Given the description of an element on the screen output the (x, y) to click on. 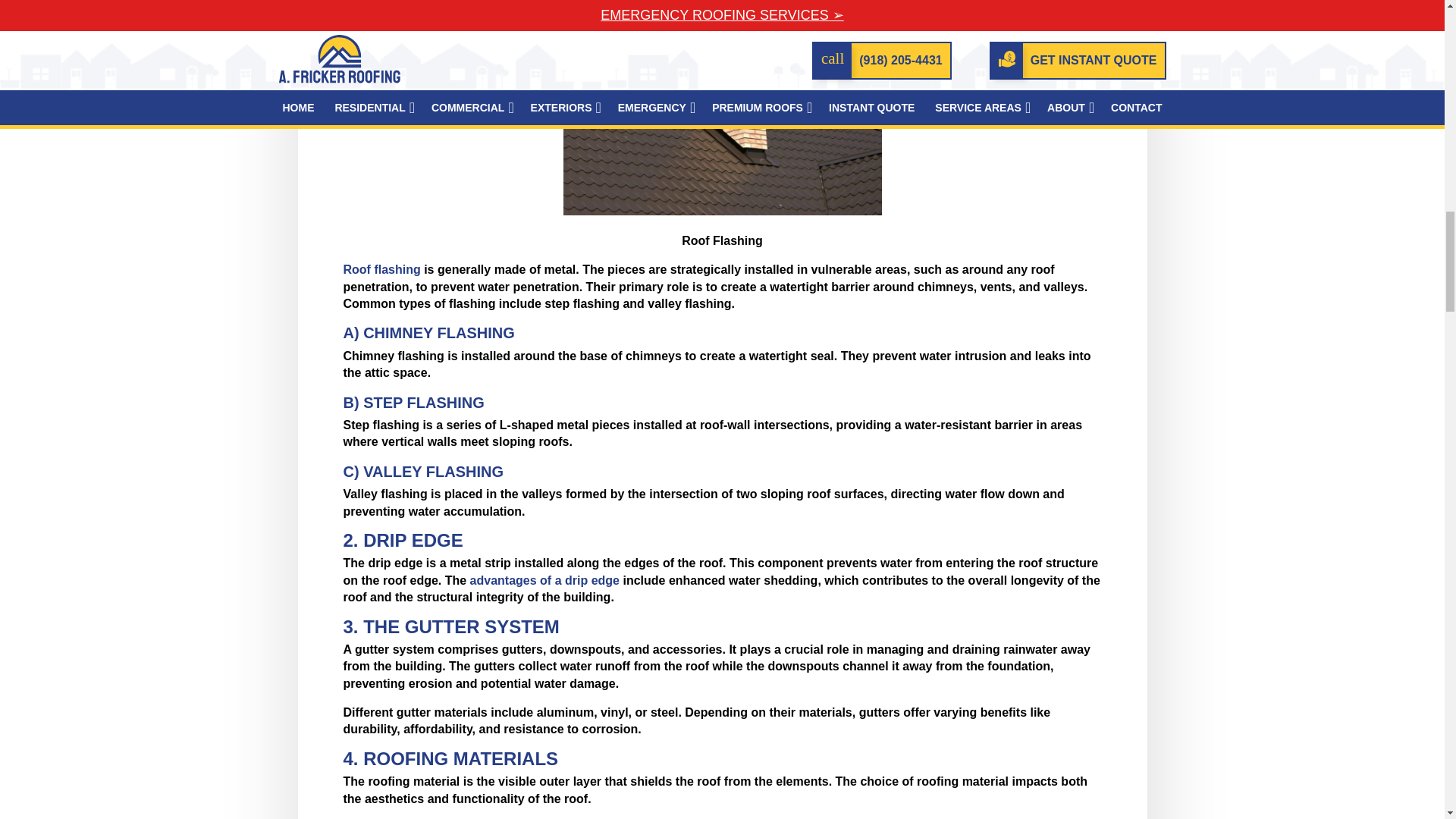
Roofing Terms (721, 107)
